Given the description of an element on the screen output the (x, y) to click on. 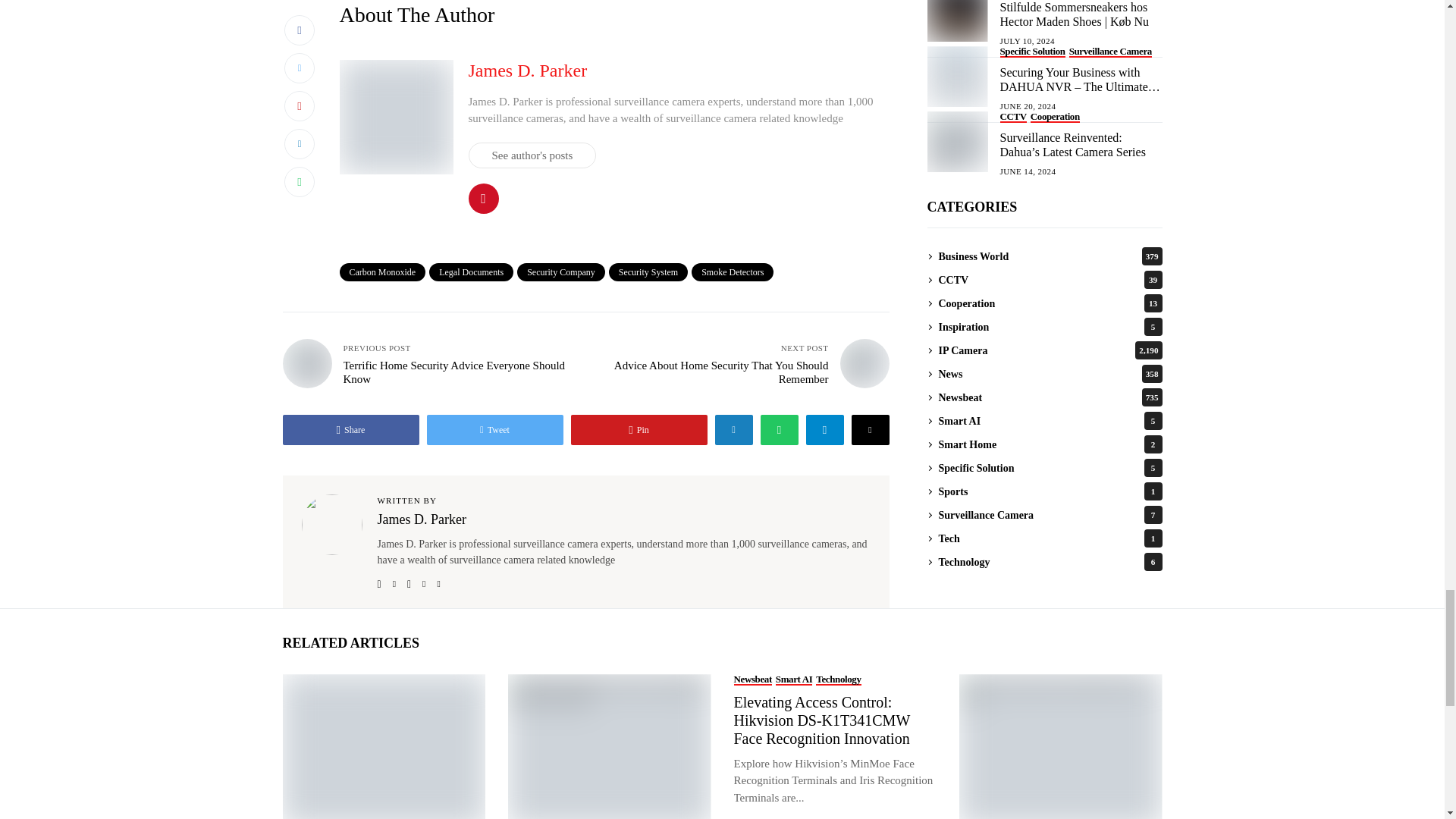
DAHUA WizMind: The New Standard in Network Cameras (608, 746)
Terrific Home Security Advice Everyone Should Know (306, 363)
Advice About Home Security That You Should Remember (864, 363)
